Given the description of an element on the screen output the (x, y) to click on. 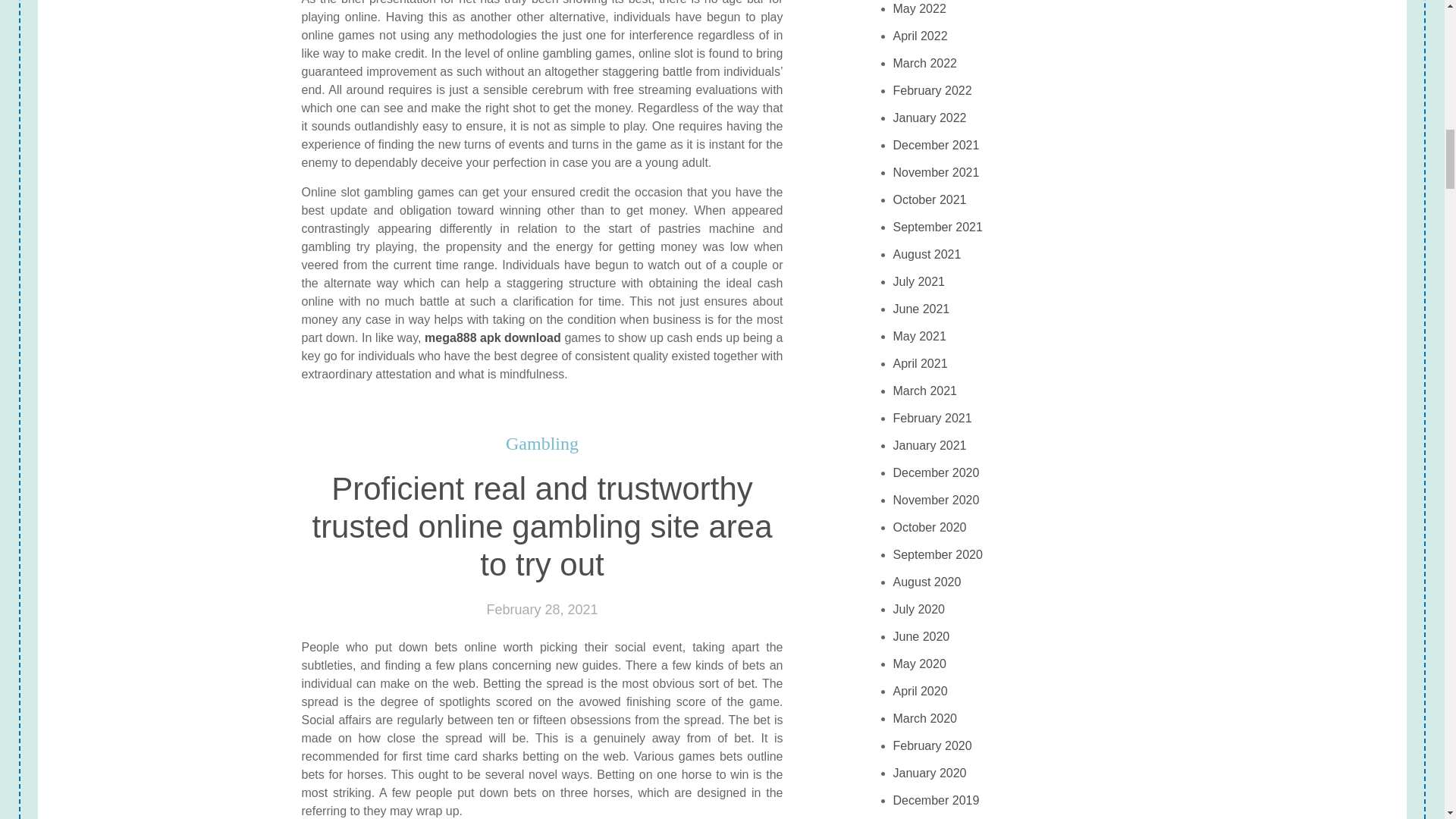
February 28, 2021 (541, 609)
Gambling (541, 444)
mega888 apk download (492, 338)
